Given the description of an element on the screen output the (x, y) to click on. 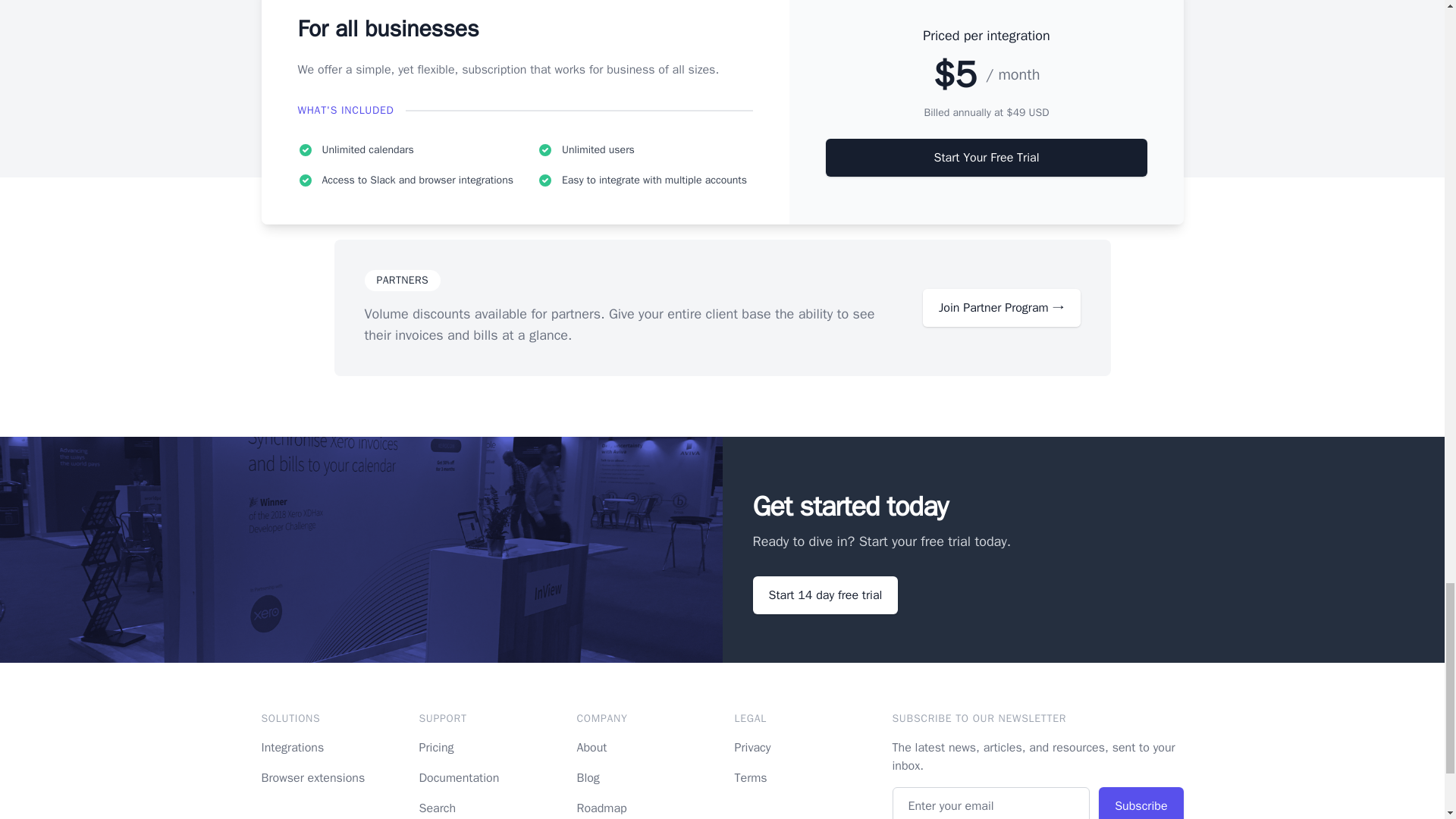
Privacy (751, 747)
Start Your Free Trial (986, 157)
About (591, 747)
Integrations (291, 747)
Terms (750, 777)
Subscribe (1140, 803)
Start 14 day free trial (825, 595)
Documentation (459, 777)
Browser extensions (312, 777)
Pricing (435, 747)
Search (437, 807)
Subscribe (1140, 803)
Roadmap (601, 807)
Blog (587, 777)
